Given the description of an element on the screen output the (x, y) to click on. 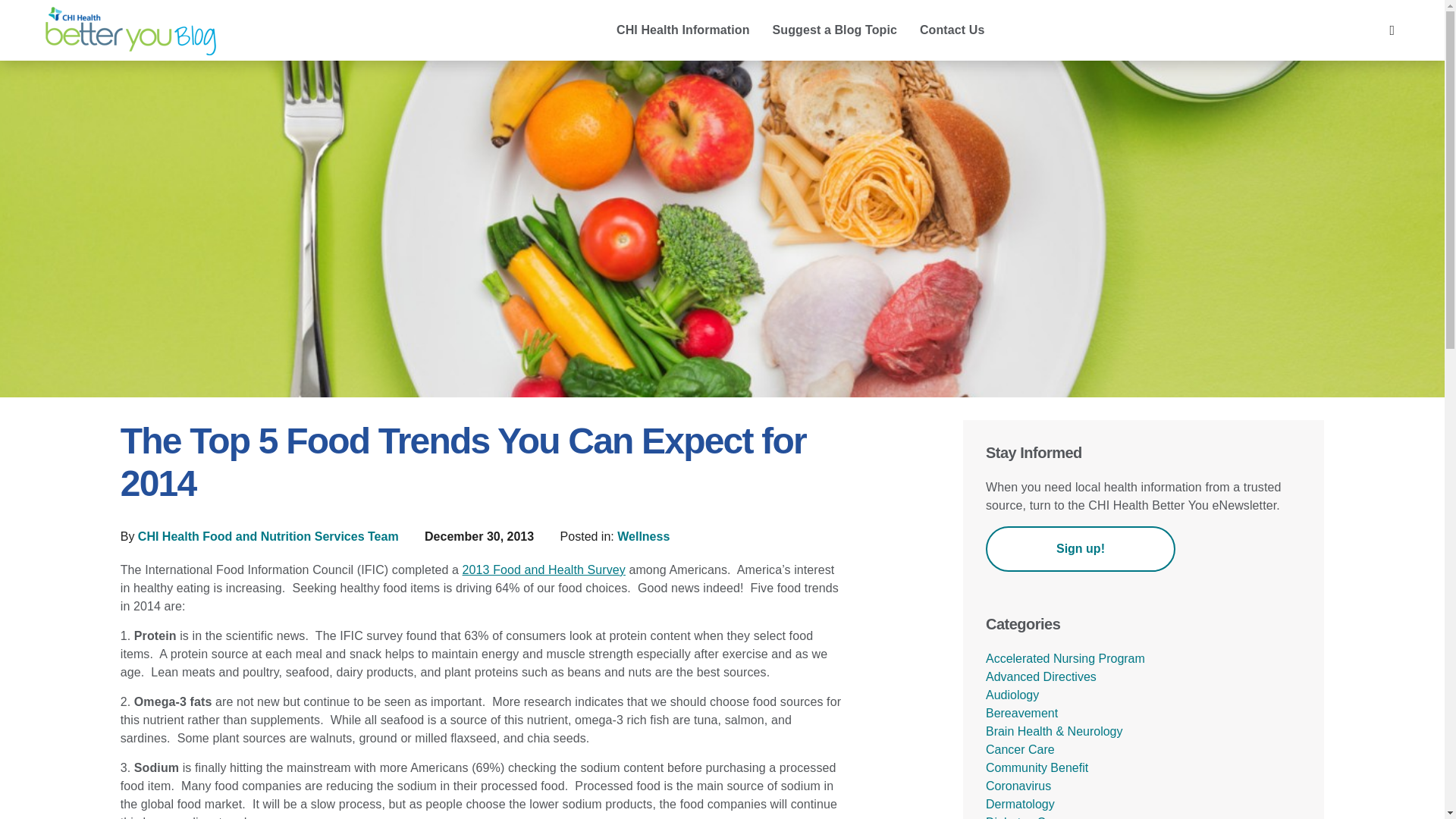
Wellness (643, 535)
Cancer Care (1019, 748)
Audiology (1012, 694)
2013 Food and Health Survey (544, 569)
Sign up! (1079, 548)
Contact Us (951, 31)
Coronavirus (1018, 785)
Bereavement (1021, 712)
Advanced Directives (1040, 676)
CHI Health Information (683, 31)
